Given the description of an element on the screen output the (x, y) to click on. 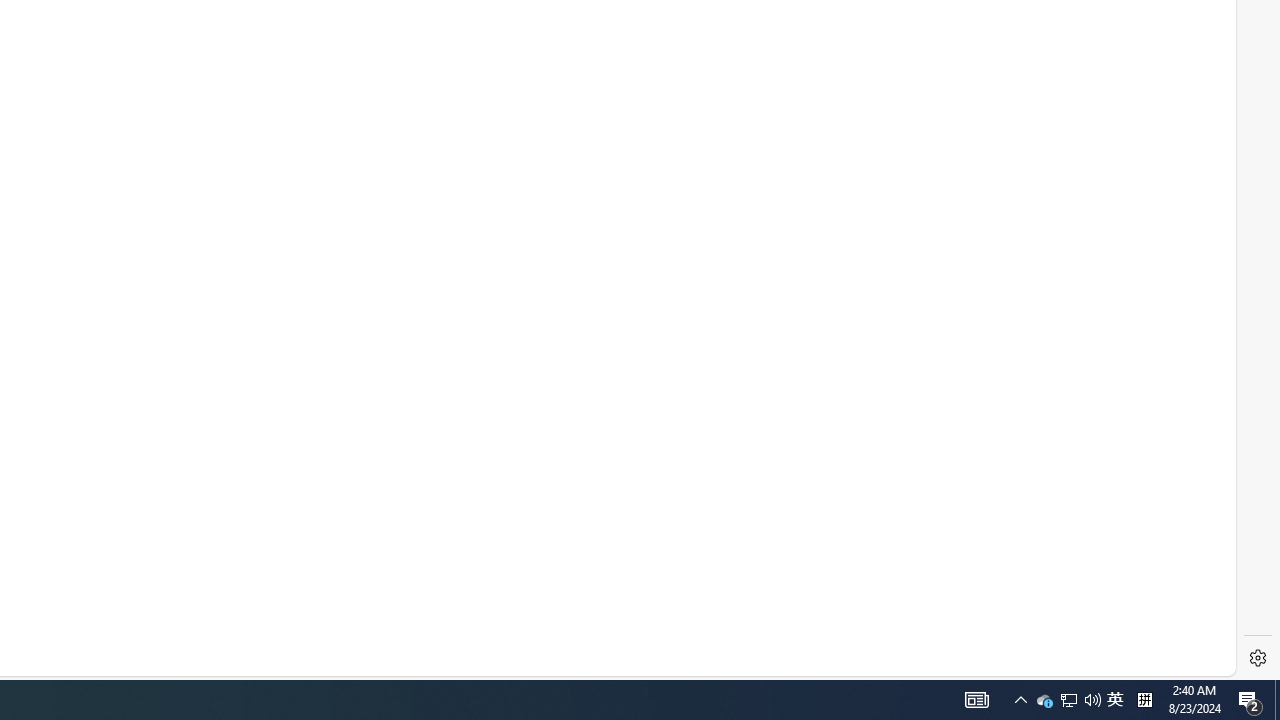
Microsoft Tech Community (379, 468)
Safety & eco (443, 629)
Accessibility (646, 532)
Microsoft Tech Community Developer & IT (323, 467)
Azure Marketplace Developer & IT (303, 500)
Sustainability (646, 564)
Azure (379, 340)
Privacy at Microsoft (646, 436)
AppSource (379, 532)
Visual Studio Developer & IT (290, 564)
Investors (646, 468)
Microsoft Learn Developer & IT (296, 436)
Careers Company (542, 339)
Diversity and inclusion (646, 500)
